Given the description of an element on the screen output the (x, y) to click on. 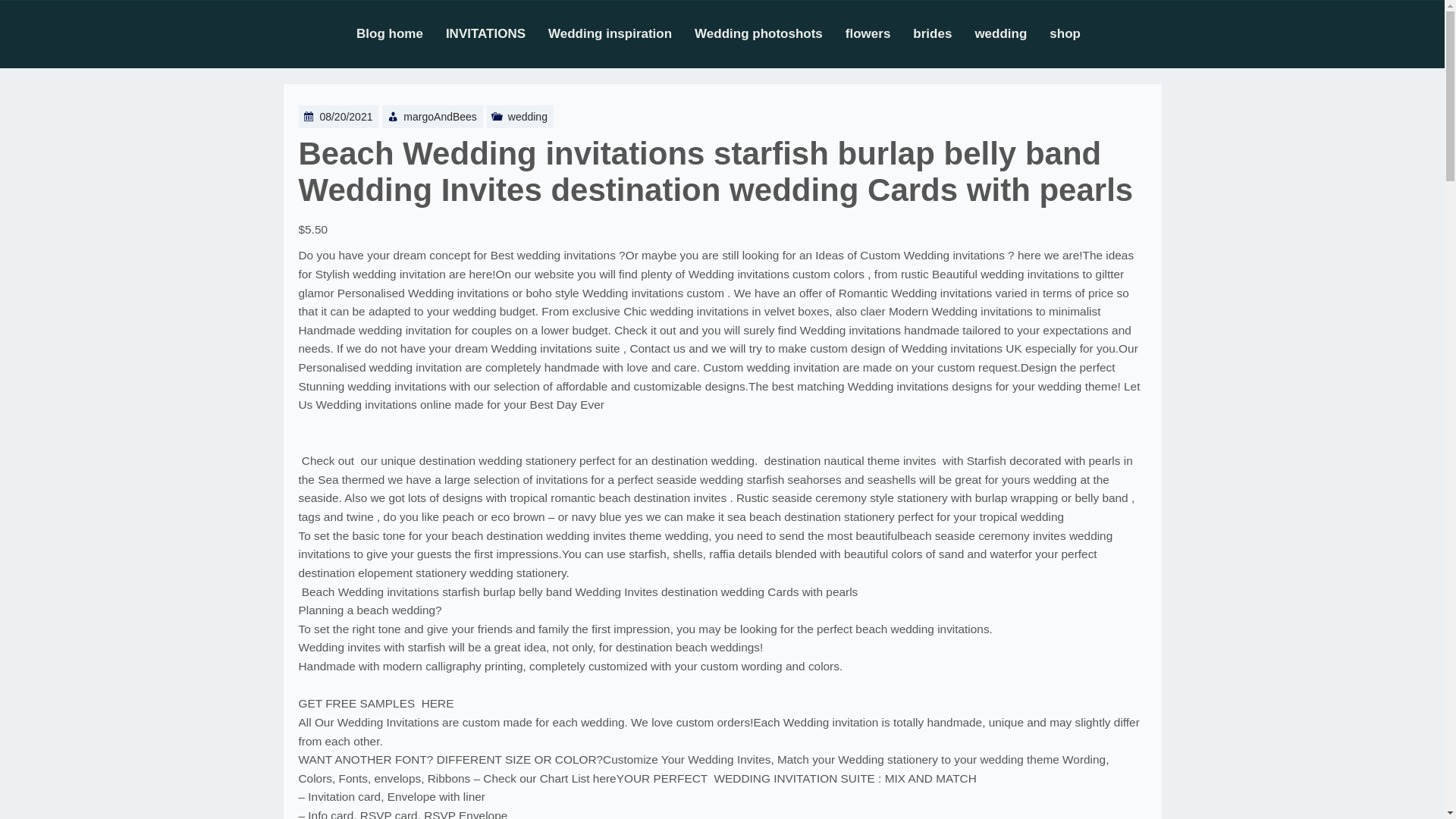
wedding (527, 116)
flowers (879, 33)
Blog home (400, 33)
wedding (1011, 33)
INVITATIONS (496, 33)
shop (1076, 33)
Wedding photoshots (769, 33)
margoAndBees (440, 116)
Wedding inspiration (621, 33)
brides (943, 33)
